Given the description of an element on the screen output the (x, y) to click on. 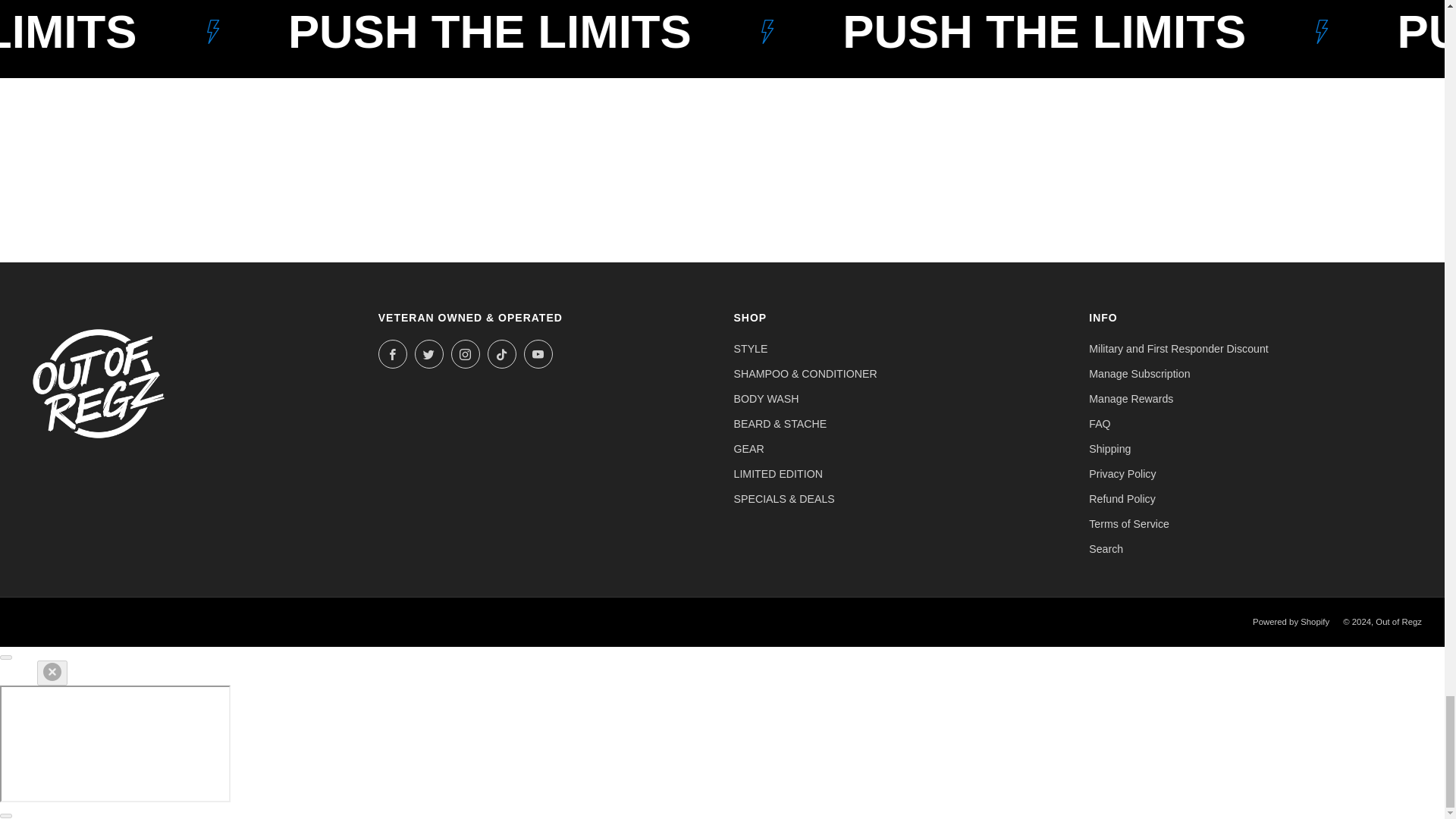
PUSH THE LIMITS (178, 31)
PUSH THE LIMITS (706, 31)
